Given the description of an element on the screen output the (x, y) to click on. 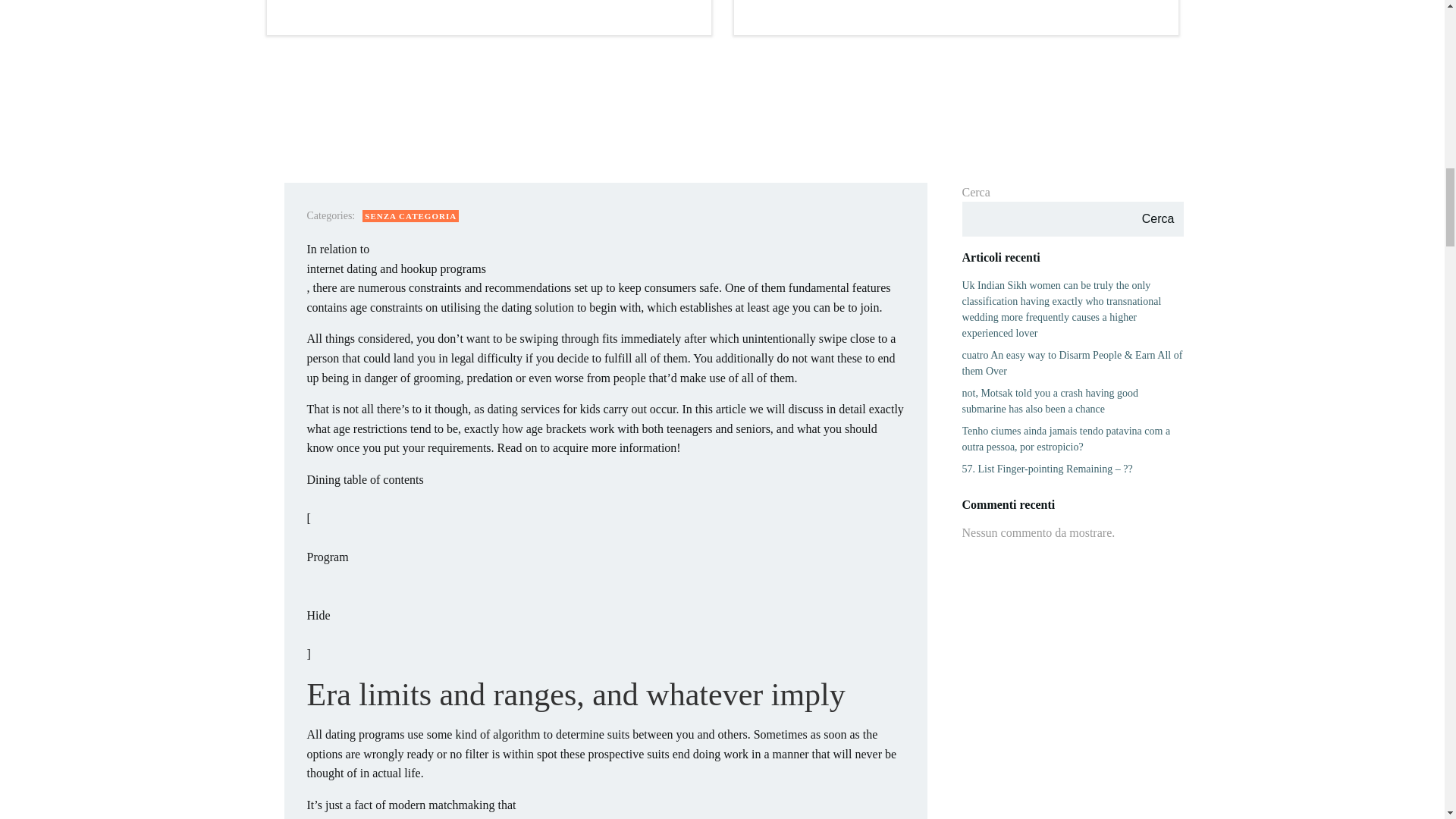
Cerca (1157, 218)
SENZA CATEGORIA (410, 215)
